Given the description of an element on the screen output the (x, y) to click on. 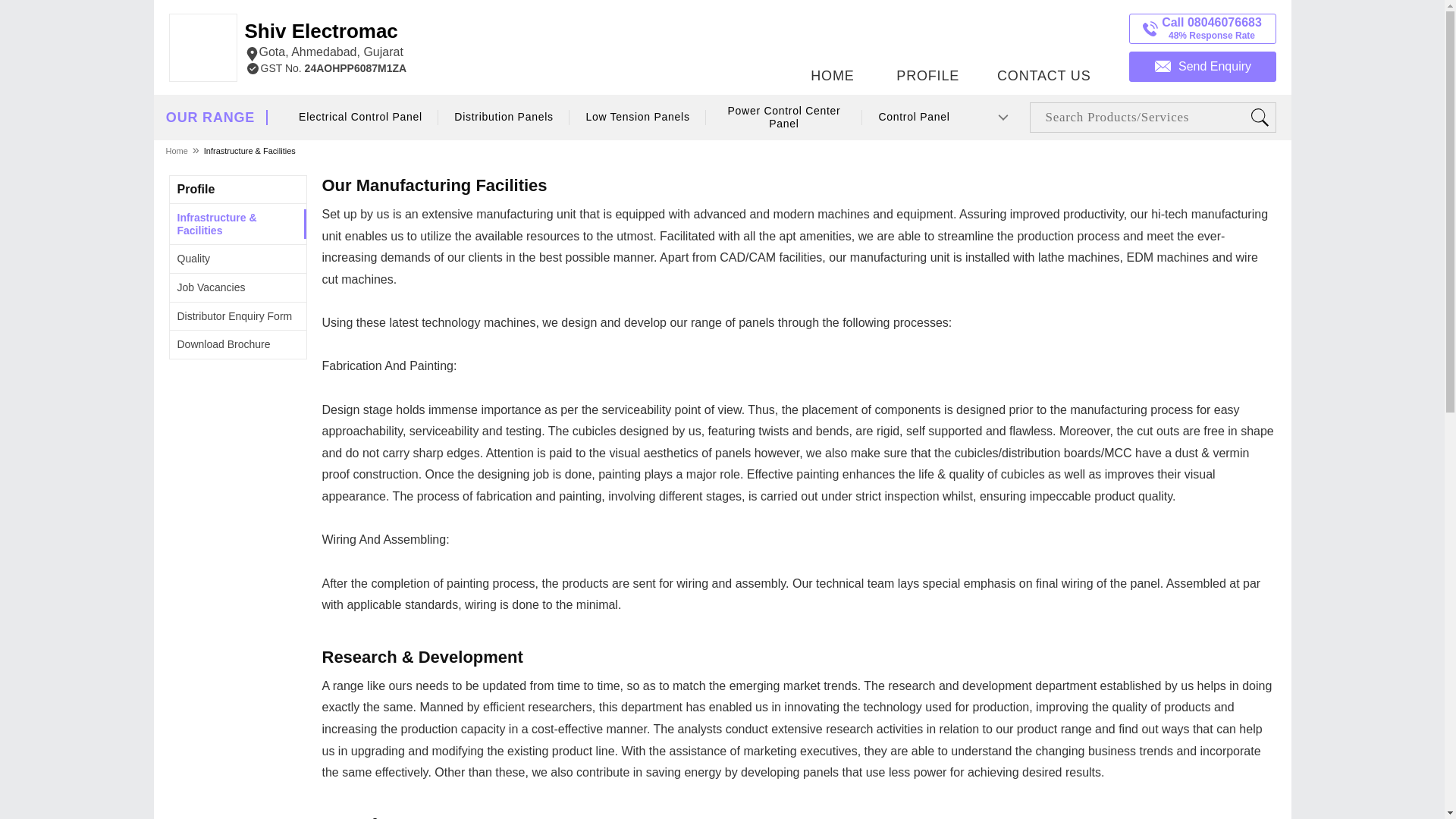
Distribution Panels (503, 117)
Home (176, 150)
Electrical Control Panel (360, 117)
Control Panel (914, 117)
Download Brochure (223, 344)
CONTACT US (1043, 43)
Job Vacancies (211, 287)
Low Tension Panels (638, 117)
Power Control Center Panel (783, 117)
PROFILE (927, 43)
Profile (325, 41)
OUR RANGE (196, 188)
Distributor Enquiry Form (209, 117)
Quality (234, 316)
